Given the description of an element on the screen output the (x, y) to click on. 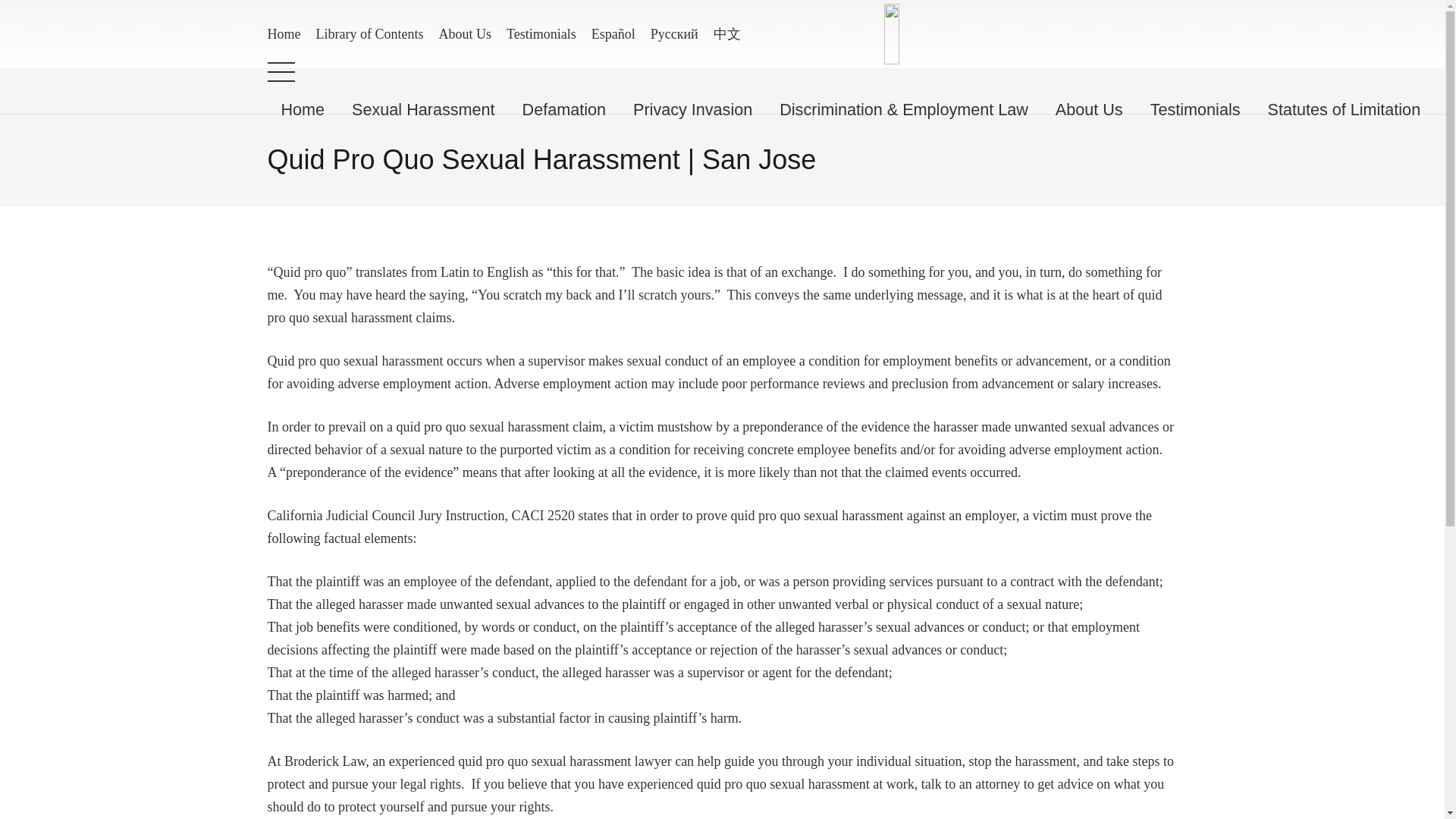
About Us (1089, 109)
Home (301, 109)
About Us (464, 33)
Home (283, 33)
Privacy Invasion (692, 109)
Defamation (564, 109)
Library of Contents (368, 33)
Testimonials (541, 33)
Sexual Harassment (422, 109)
